Given the description of an element on the screen output the (x, y) to click on. 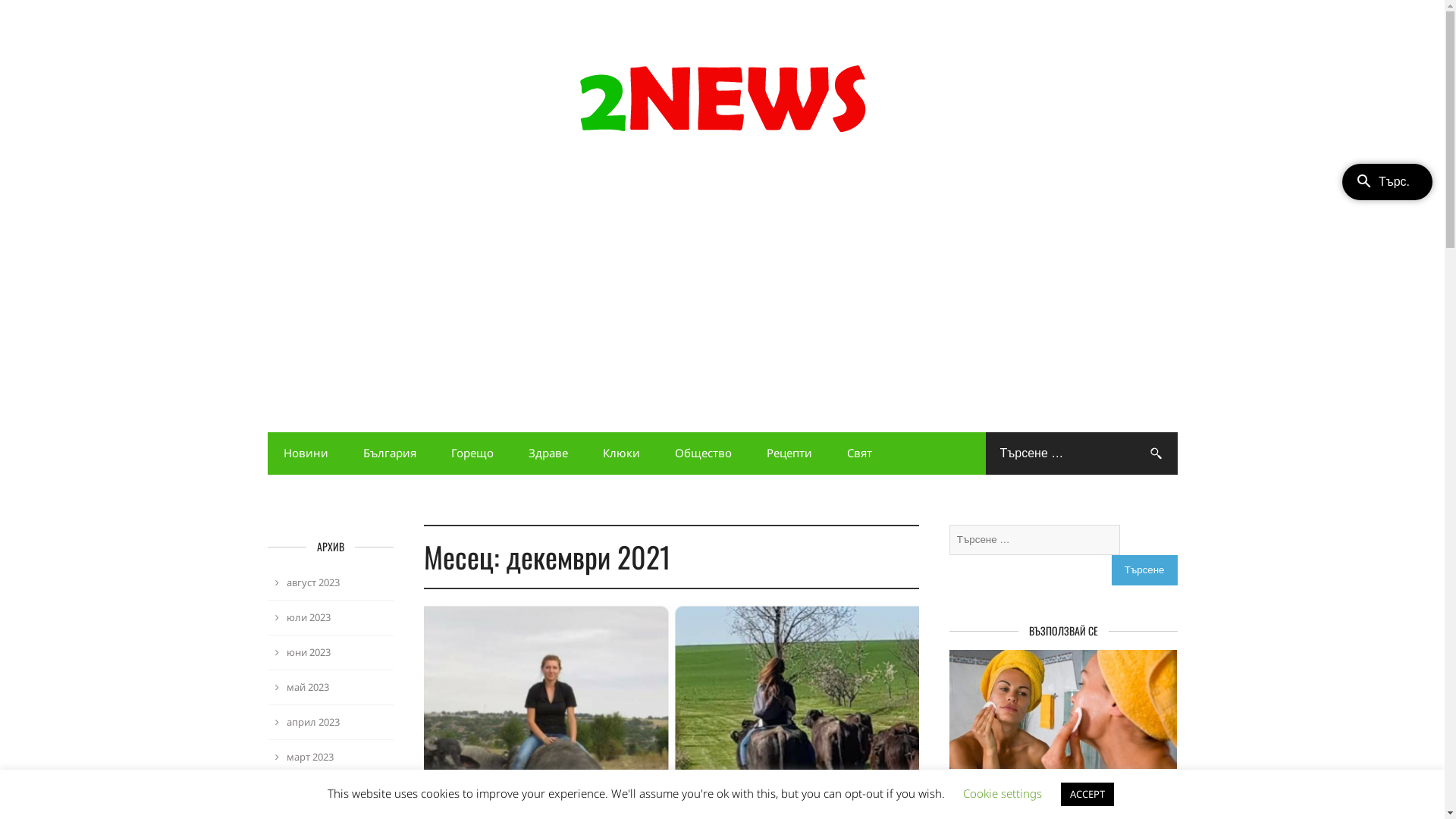
Cookie settings Element type: text (1002, 792)
ACCEPT Element type: text (1086, 794)
Advertisement Element type: hover (721, 294)
